Given the description of an element on the screen output the (x, y) to click on. 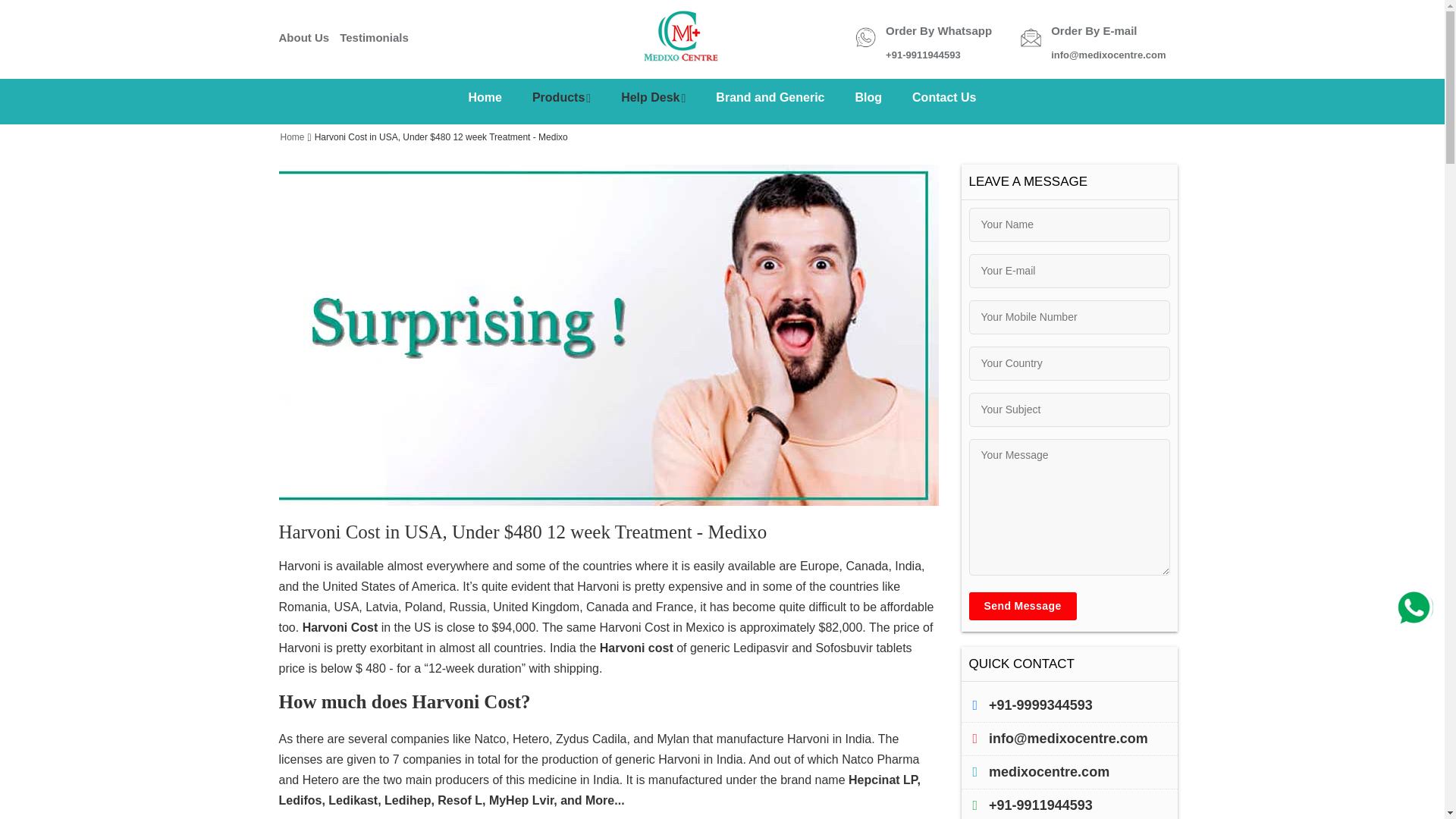
Blog (869, 97)
Help Desk (652, 97)
About Us (304, 37)
Products (560, 97)
Contact Us (943, 97)
Home (484, 97)
Brand and Generic (770, 97)
Chat with me (1413, 608)
Testimonials (374, 37)
